Given the description of an element on the screen output the (x, y) to click on. 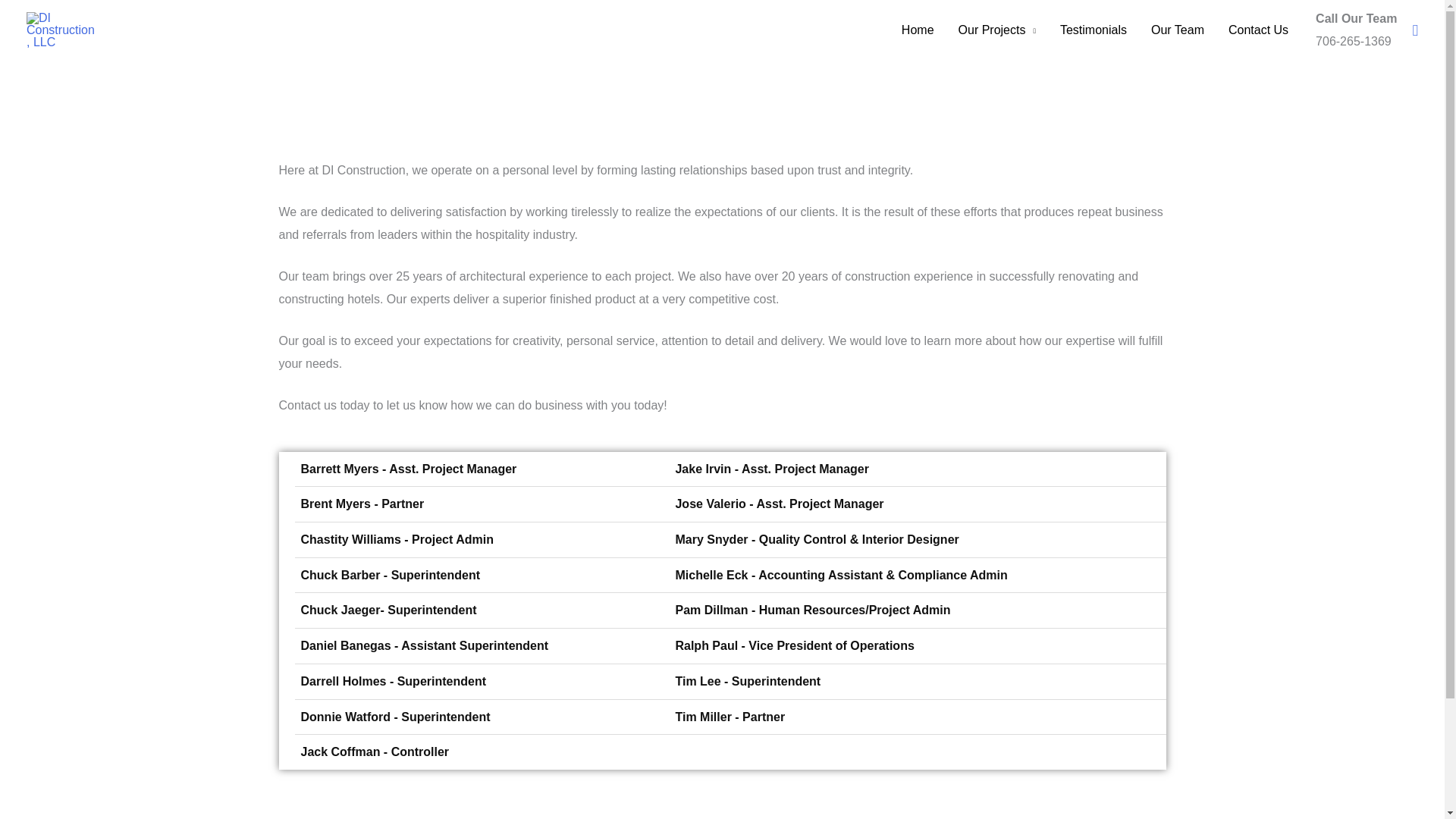
Contact Us (1257, 30)
Our Team (1176, 30)
Home (917, 30)
Testimonials (1093, 30)
Our Projects (997, 30)
